Given the description of an element on the screen output the (x, y) to click on. 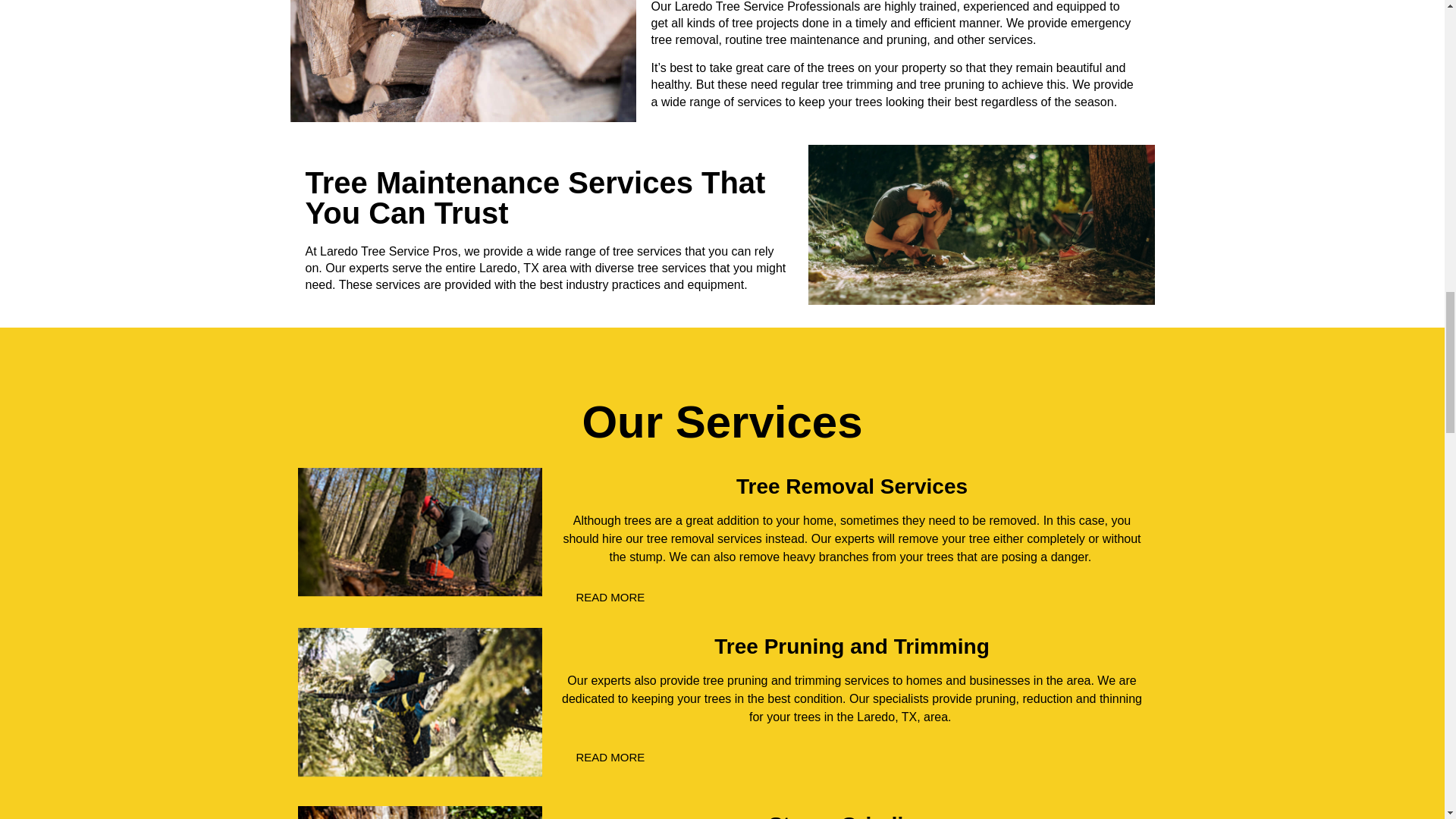
READ MORE (609, 757)
READ MORE (609, 596)
